Given the description of an element on the screen output the (x, y) to click on. 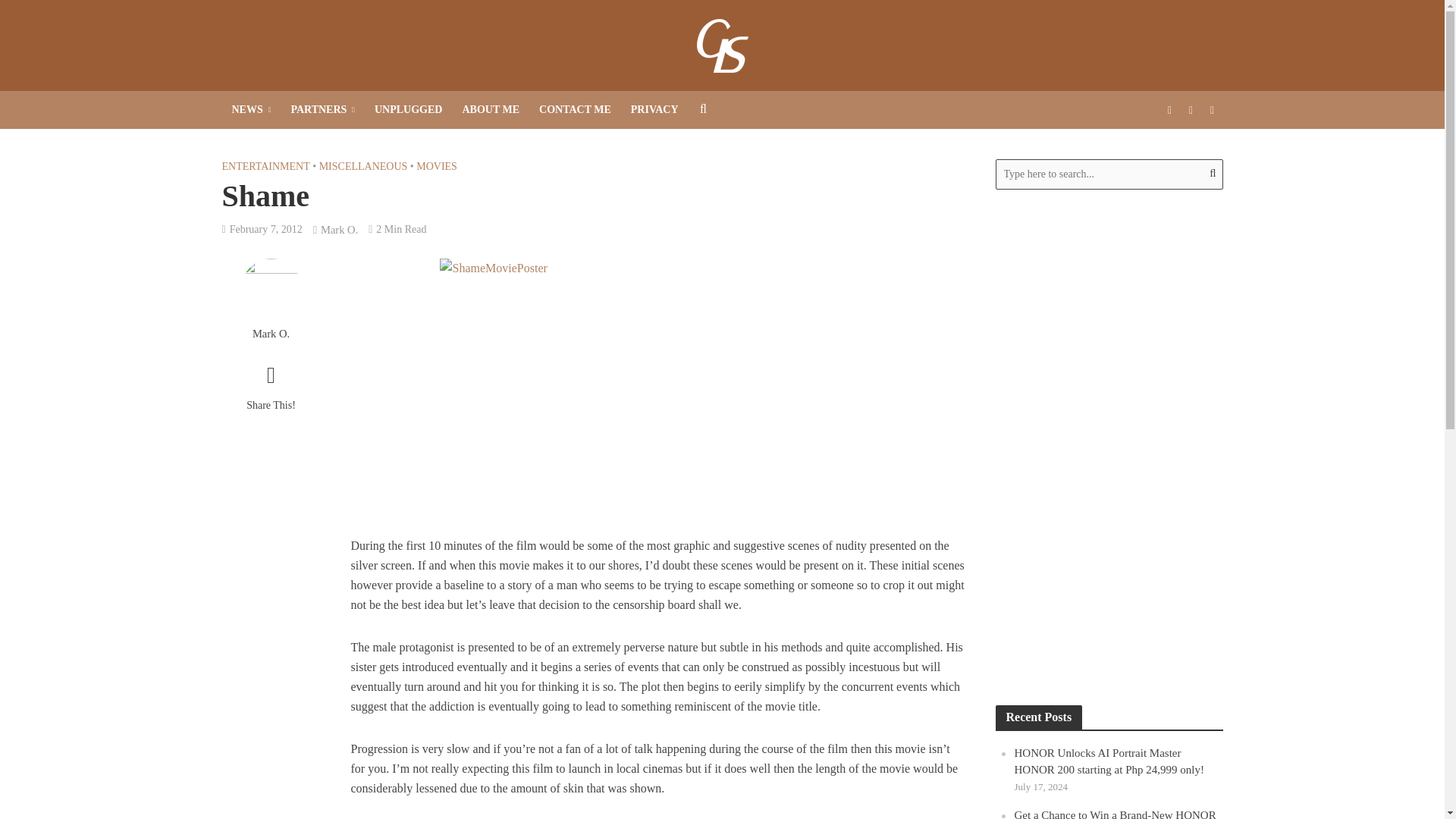
CONTACT ME (575, 109)
ENTERTAINMENT (264, 167)
Mark O. (270, 333)
PARTNERS (323, 109)
MOVIES (436, 167)
Mark O. (339, 231)
ABOUT ME (490, 109)
UNPLUGGED (408, 109)
PRIVACY (654, 109)
MISCELLANEOUS (362, 167)
ShameMoviePoster (657, 385)
NEWS (251, 109)
